Given the description of an element on the screen output the (x, y) to click on. 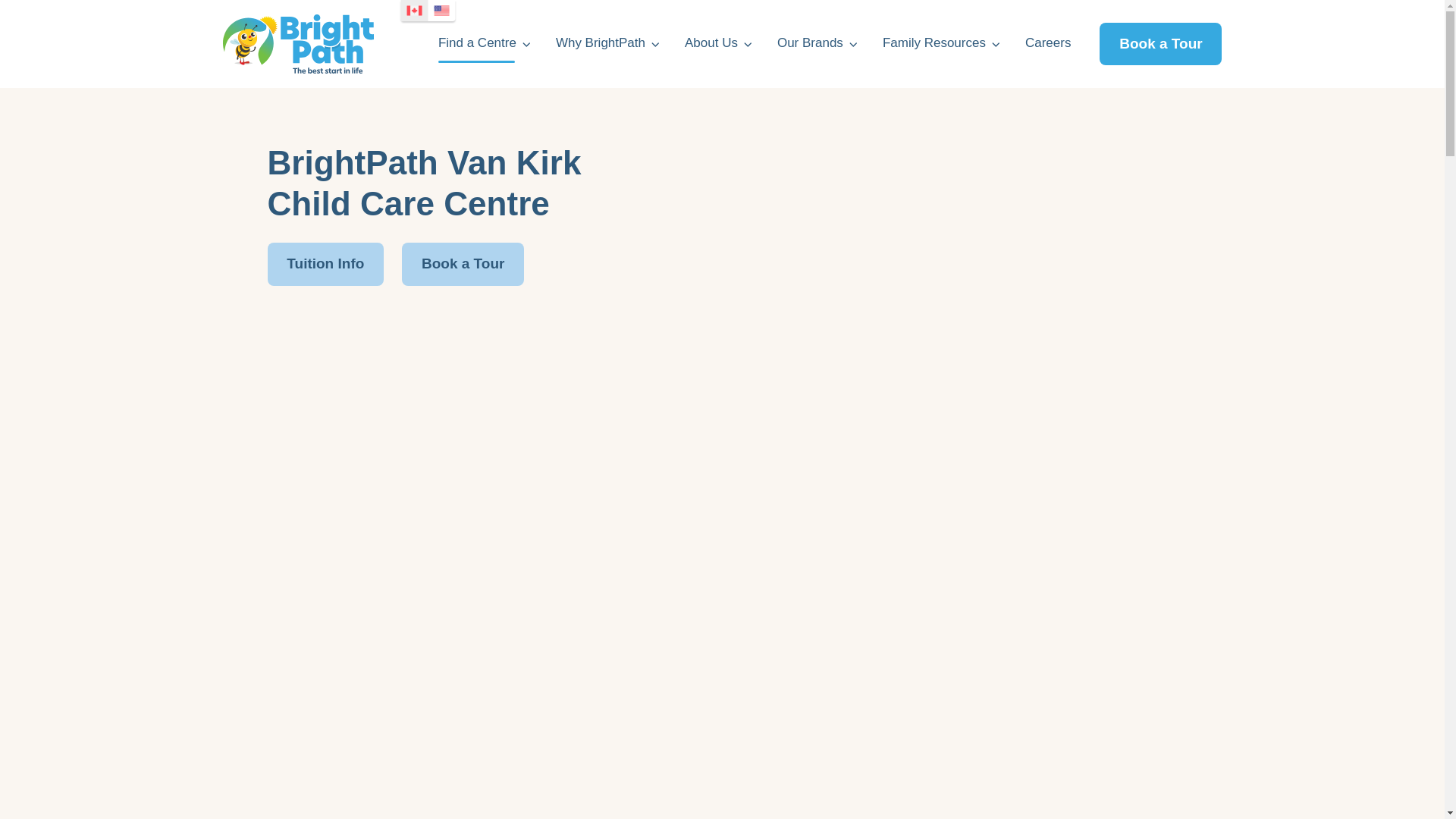
Why BrightPath (608, 44)
Visit our US site (440, 10)
About Us (718, 44)
Visit our CA site (414, 10)
Careers (1047, 44)
Find a Centre (484, 44)
Our Brands (818, 44)
BrightPath: The best start in life (298, 43)
Family Resources (941, 44)
Book a Tour (1160, 44)
